Given the description of an element on the screen output the (x, y) to click on. 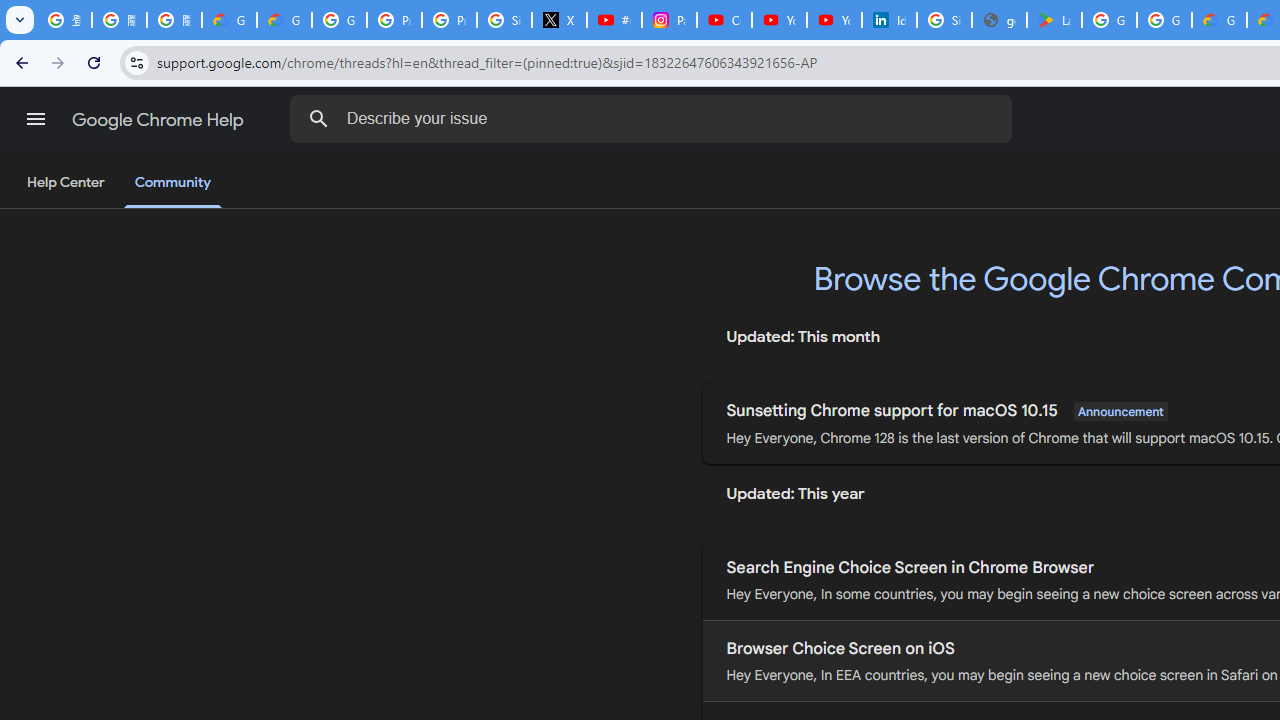
Google Cloud Privacy Notice (229, 20)
Google Workspace - Specific Terms (1163, 20)
Search Help Center (318, 118)
